Given the description of an element on the screen output the (x, y) to click on. 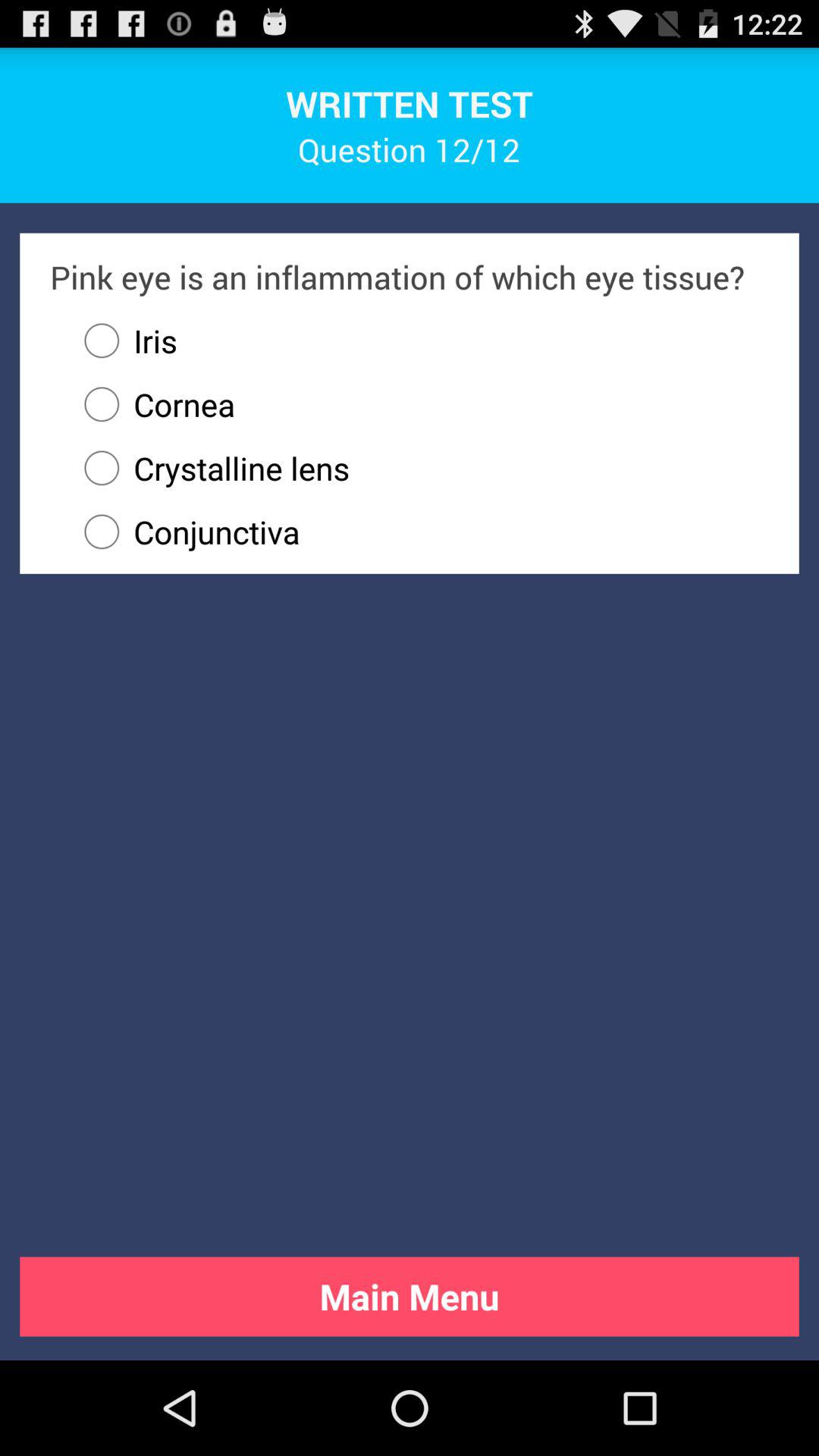
turn off button above main menu (418, 531)
